Given the description of an element on the screen output the (x, y) to click on. 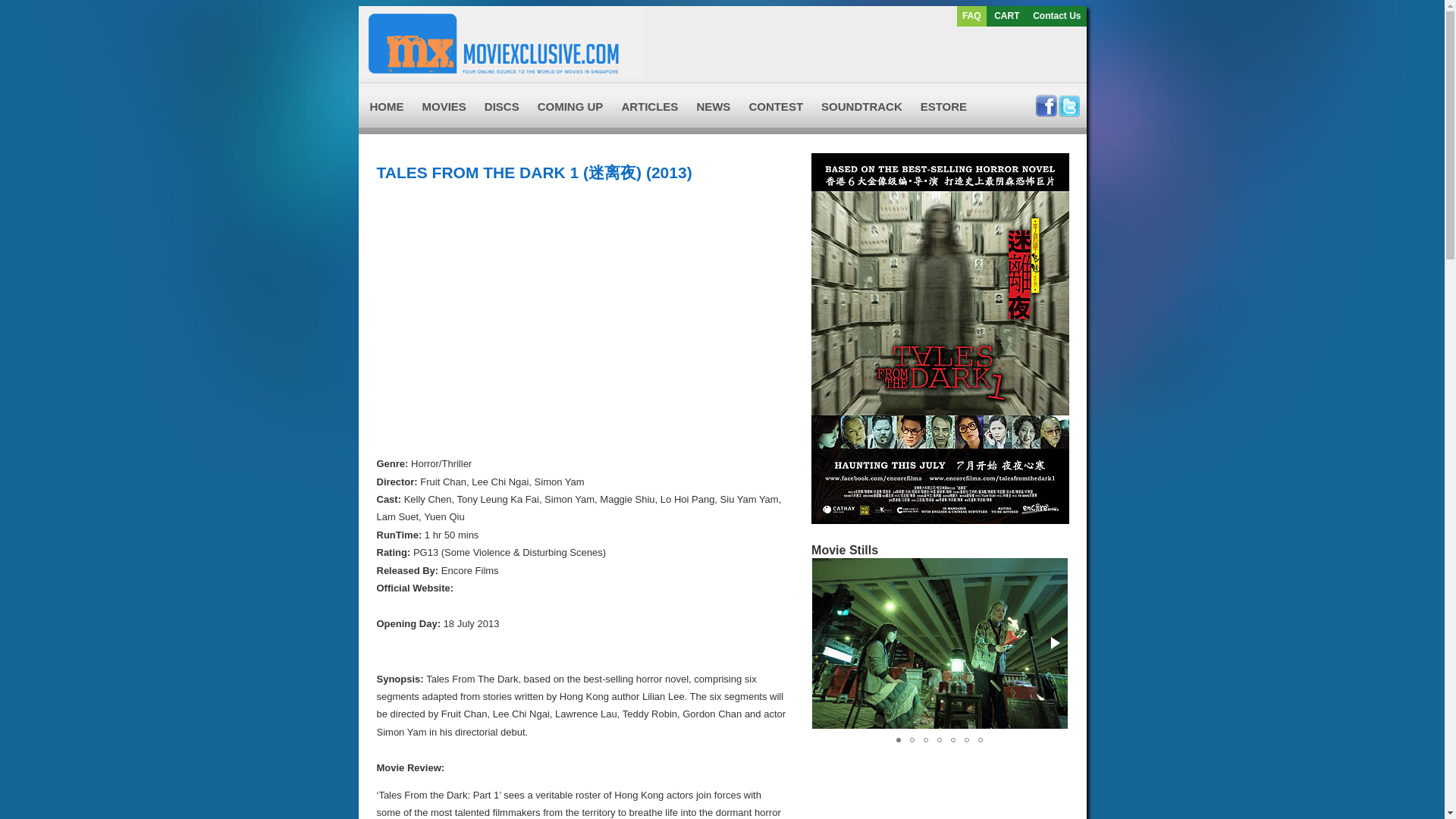
Contact Us (1056, 15)
NEWS (713, 105)
FAQ (971, 15)
YouTube video player (587, 311)
MOVIES (443, 105)
ARTICLES (649, 105)
DISCS (502, 105)
CART (1006, 15)
CONTEST (775, 105)
ESTORE (943, 105)
